Given the description of an element on the screen output the (x, y) to click on. 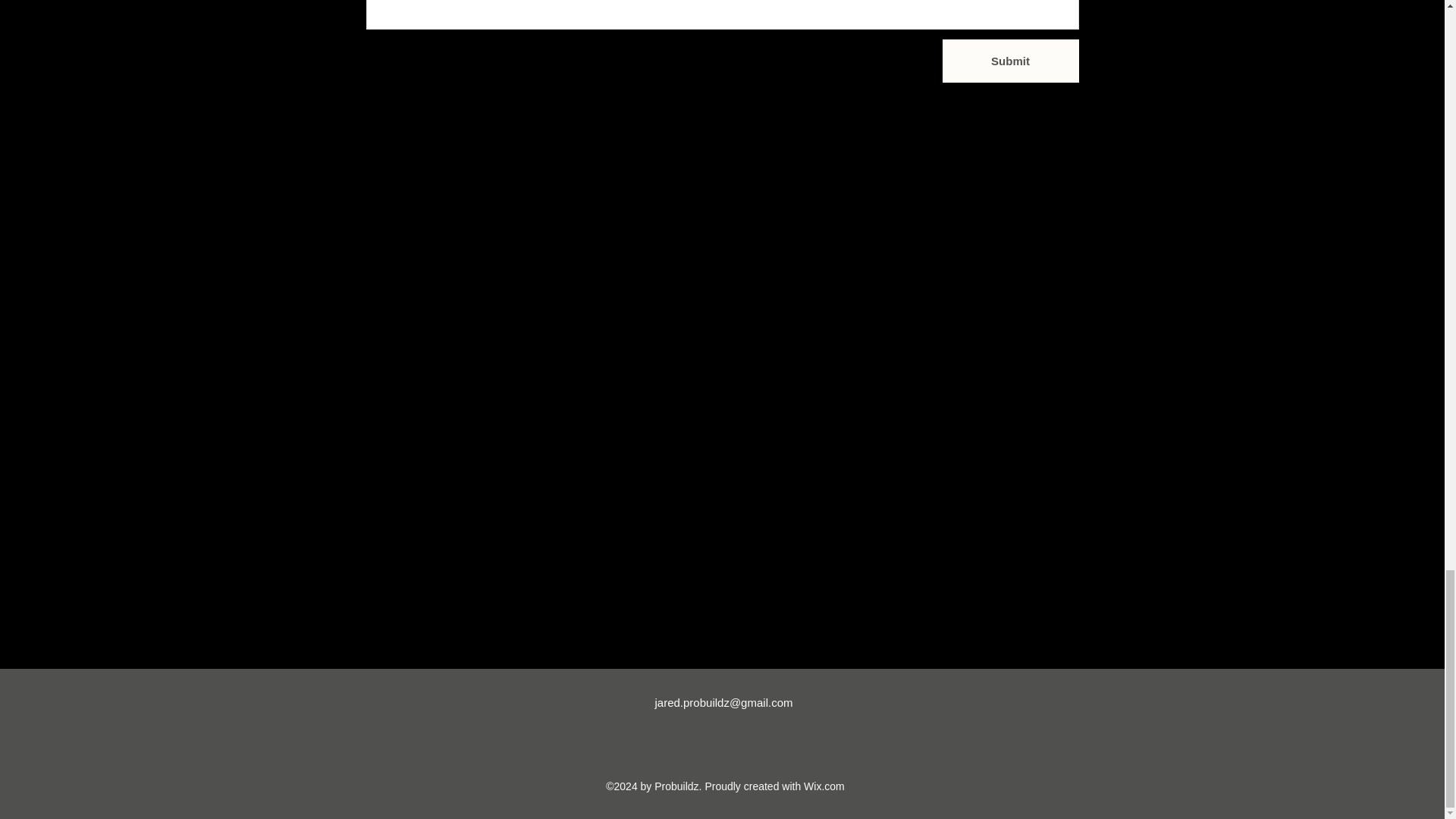
Submit (1010, 59)
